Given the description of an element on the screen output the (x, y) to click on. 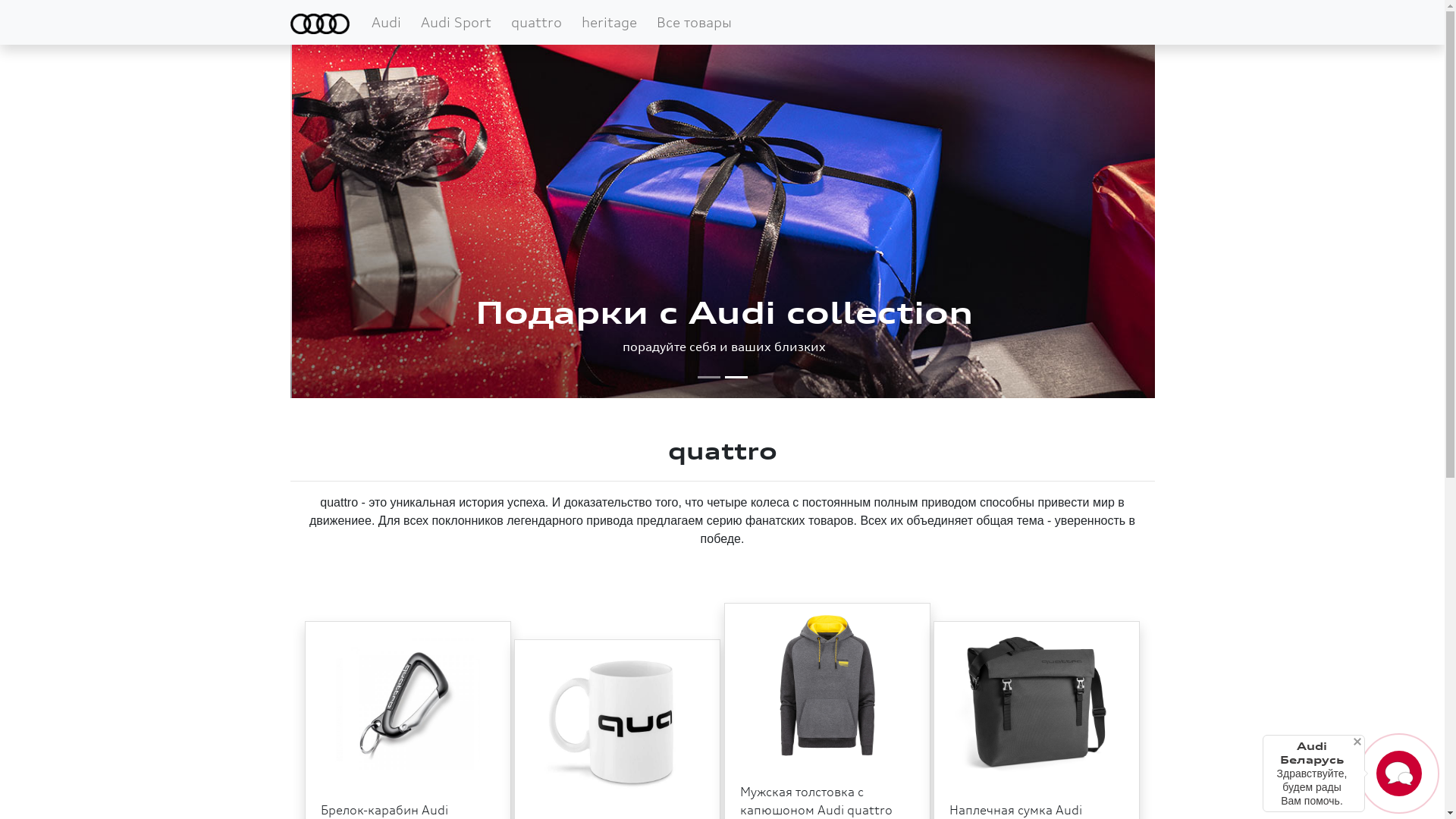
Audi Sport Element type: text (455, 22)
quattro Element type: text (536, 22)
Audi Element type: text (386, 22)
heritage Element type: text (609, 22)
